Given the description of an element on the screen output the (x, y) to click on. 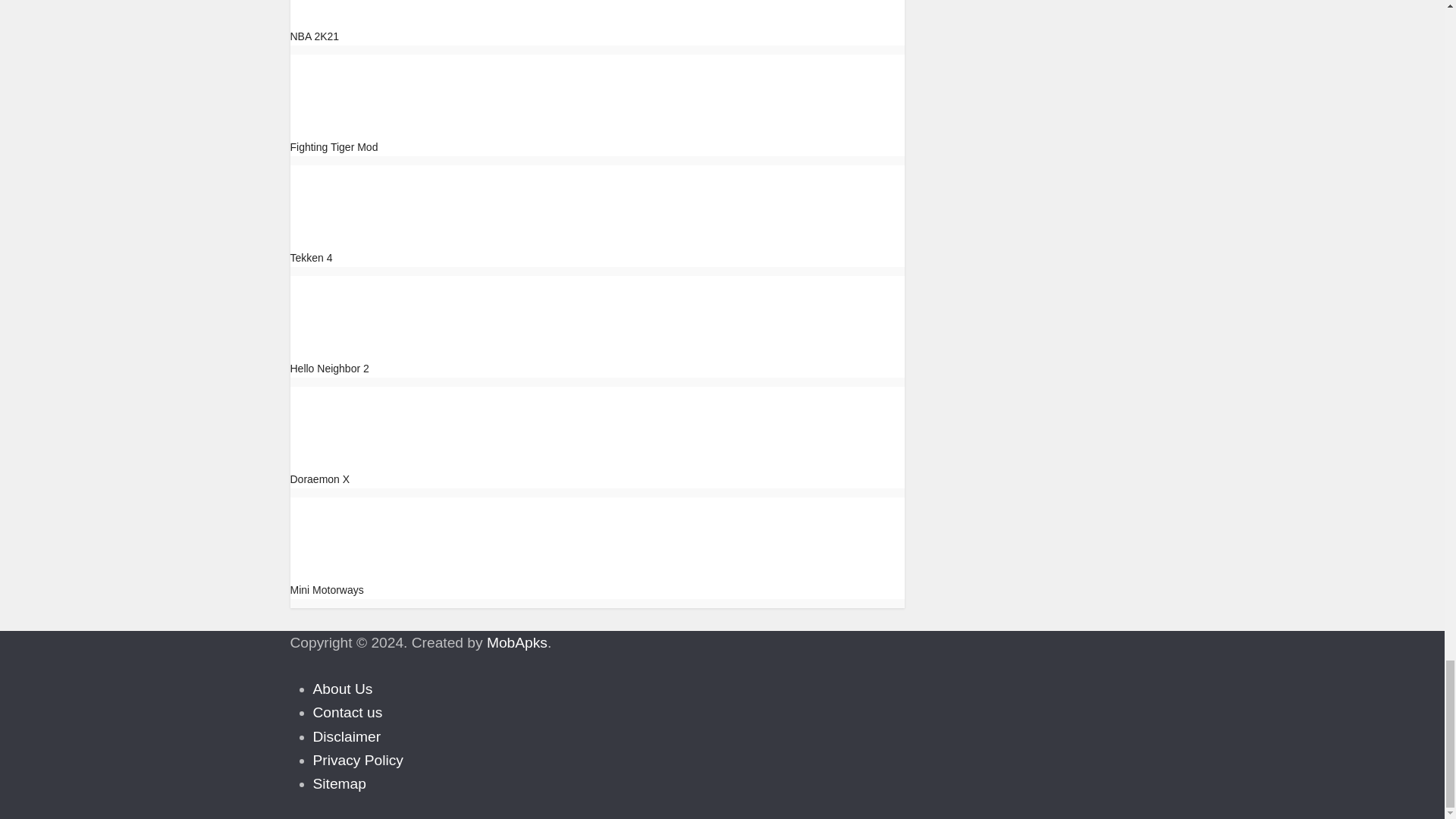
Tekken 4 (310, 257)
Doraemon X (332, 422)
Fighting Tiger Mod (333, 146)
Mini Motorways (325, 589)
Mini Motorways (325, 589)
Mini Motorways (343, 533)
NBA 2K21 (314, 36)
Fighting Tiger Mod (343, 91)
Tekken 4 (310, 257)
Hello Neighbor 2 (343, 312)
